Given the description of an element on the screen output the (x, y) to click on. 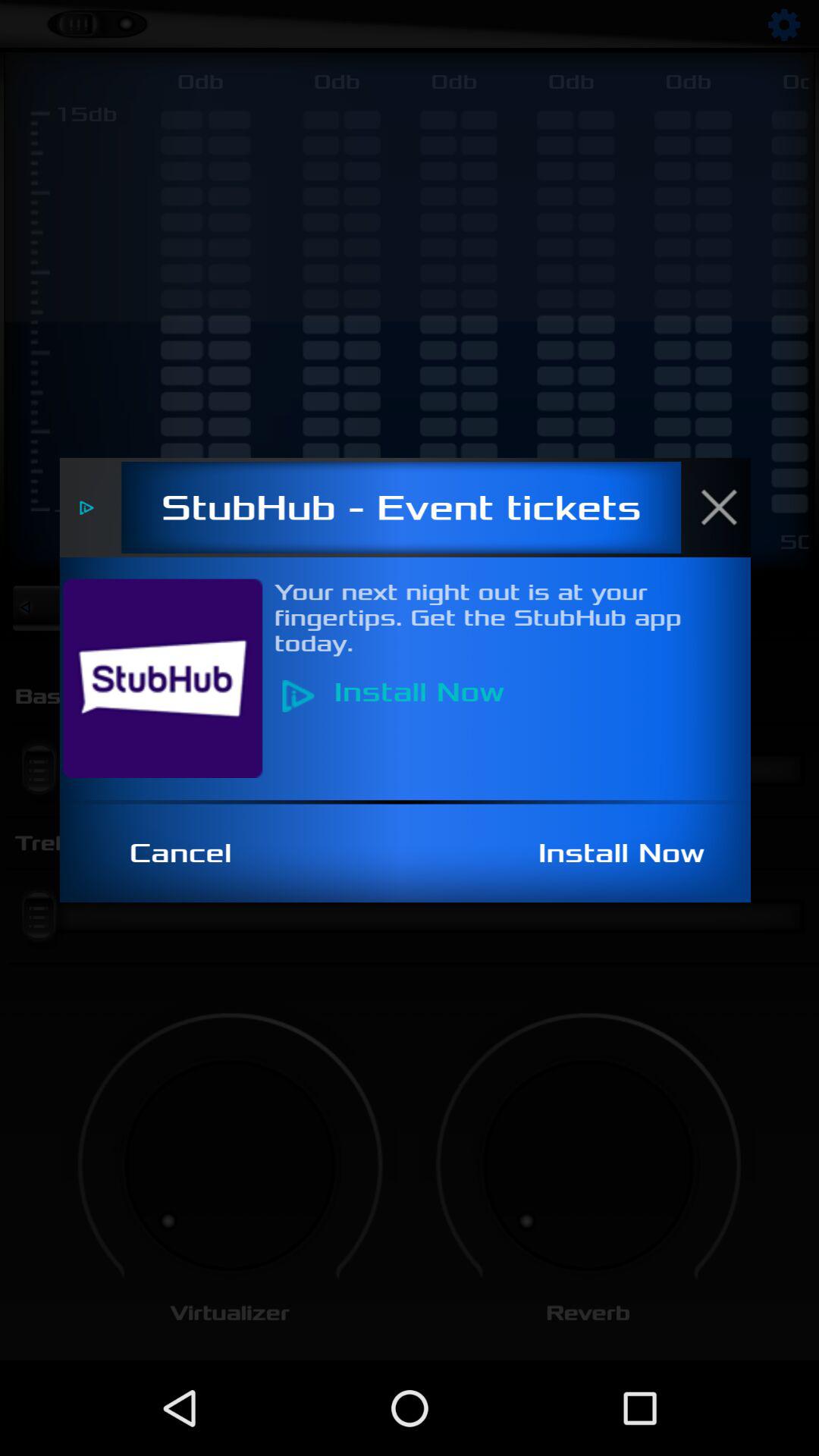
click icon to the left of your next night (170, 678)
